Given the description of an element on the screen output the (x, y) to click on. 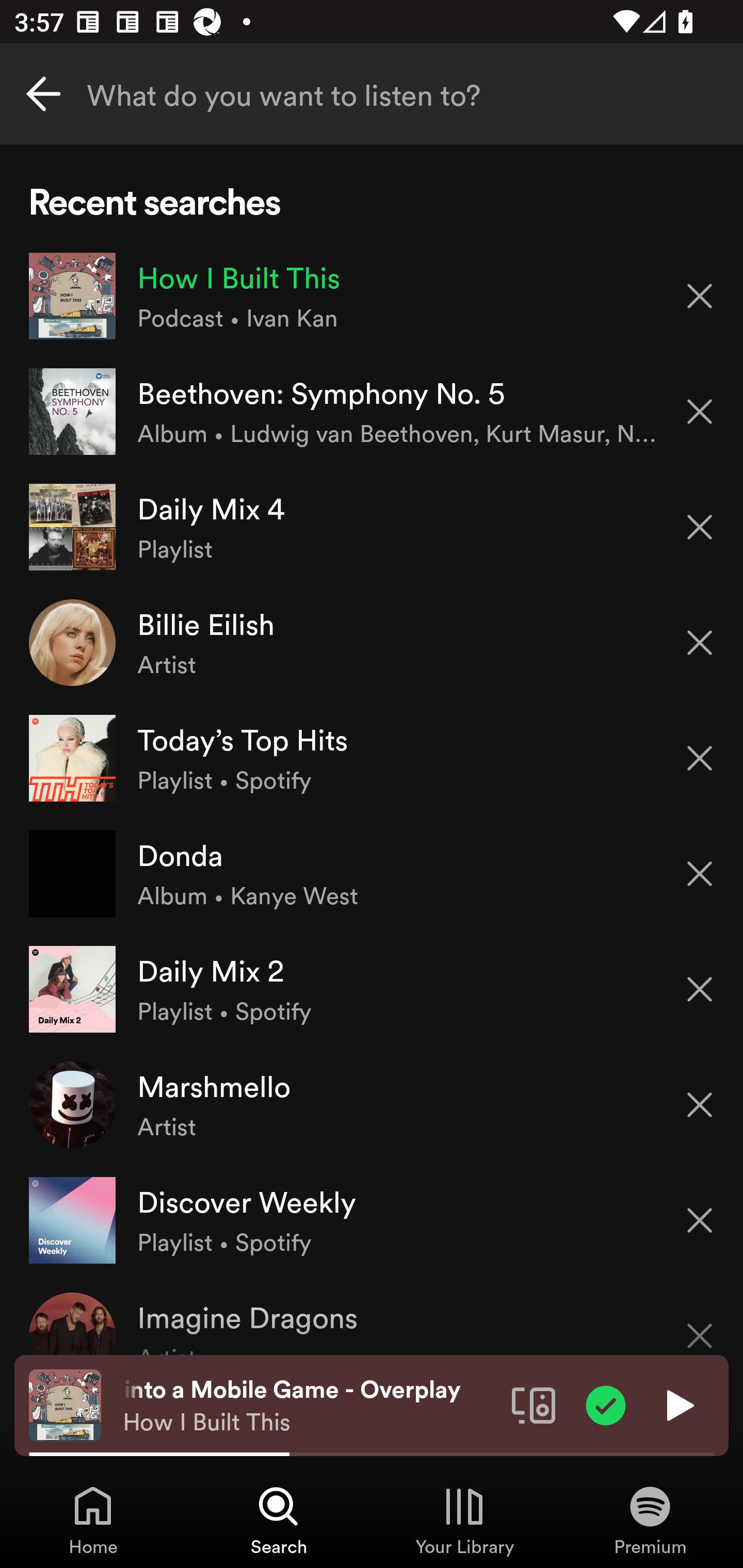
What do you want to listen to? (371, 93)
Cancel (43, 93)
How I Built This Podcast • Ivan Kan Remove (371, 296)
Remove (699, 295)
Remove (699, 411)
Daily Mix 4 Playlist Remove (371, 526)
Remove (699, 527)
Billie Eilish Artist Remove (371, 642)
Remove (699, 642)
Today’s Top Hits Playlist • Spotify Remove (371, 757)
Remove (699, 758)
Donda Album • Kanye West Remove (371, 873)
Remove (699, 874)
Daily Mix 2 Playlist • Spotify Remove (371, 989)
Remove (699, 989)
Marshmello Artist Remove (371, 1104)
Remove (699, 1104)
Discover Weekly Playlist • Spotify Remove (371, 1219)
Remove (699, 1220)
Imagine Dragons Artist Remove (371, 1315)
Remove (699, 1323)
The cover art of the currently playing track (64, 1404)
Connect to a device. Opens the devices menu (533, 1404)
Item added (605, 1404)
Play (677, 1404)
Home, Tab 1 of 4 Home Home (92, 1519)
Search, Tab 2 of 4 Search Search (278, 1519)
Your Library, Tab 3 of 4 Your Library Your Library (464, 1519)
Premium, Tab 4 of 4 Premium Premium (650, 1519)
